Given the description of an element on the screen output the (x, y) to click on. 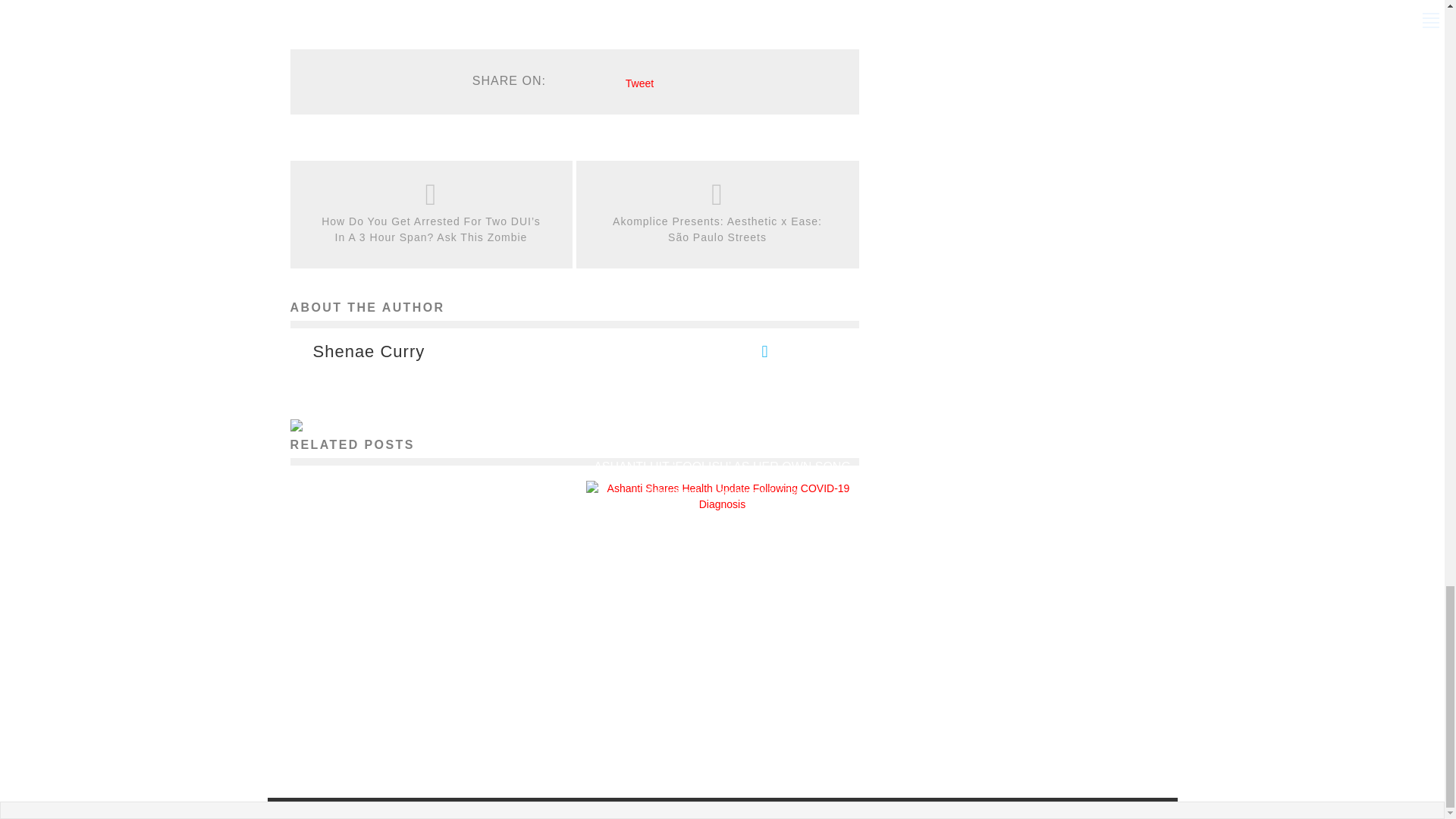
Shenae Curry (369, 351)
Dylan Kemp (673, 490)
Khari (388, 731)
Tweet (639, 82)
